Given the description of an element on the screen output the (x, y) to click on. 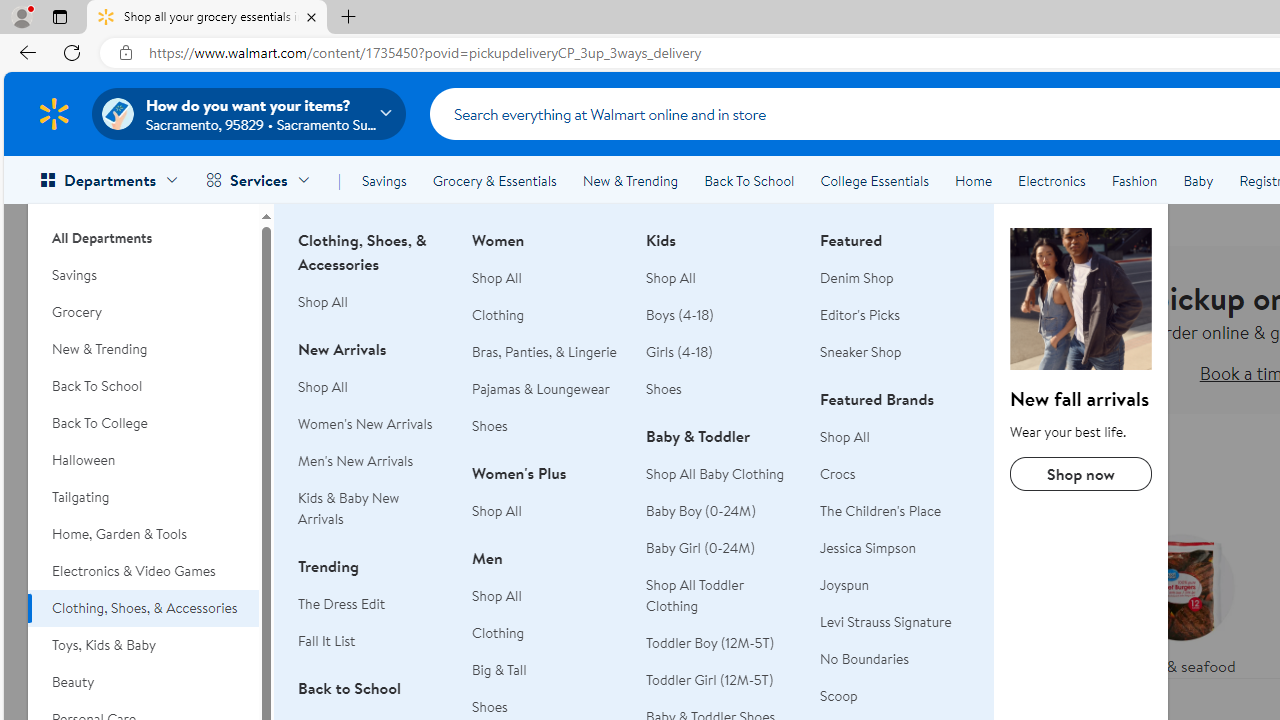
Shop All Baby Clothing (721, 474)
Baby Girl (0-24M) (721, 547)
Back To College (143, 423)
Sneaker Shop (861, 352)
Fashion (1134, 180)
College Essentials (874, 180)
Walmart Homepage (53, 113)
Clothing, Shoes, & Accessories (143, 608)
Grocery (143, 312)
Pajamas & Loungewear (541, 388)
Levi Strauss Signature (895, 622)
Grocery (143, 312)
